Given the description of an element on the screen output the (x, y) to click on. 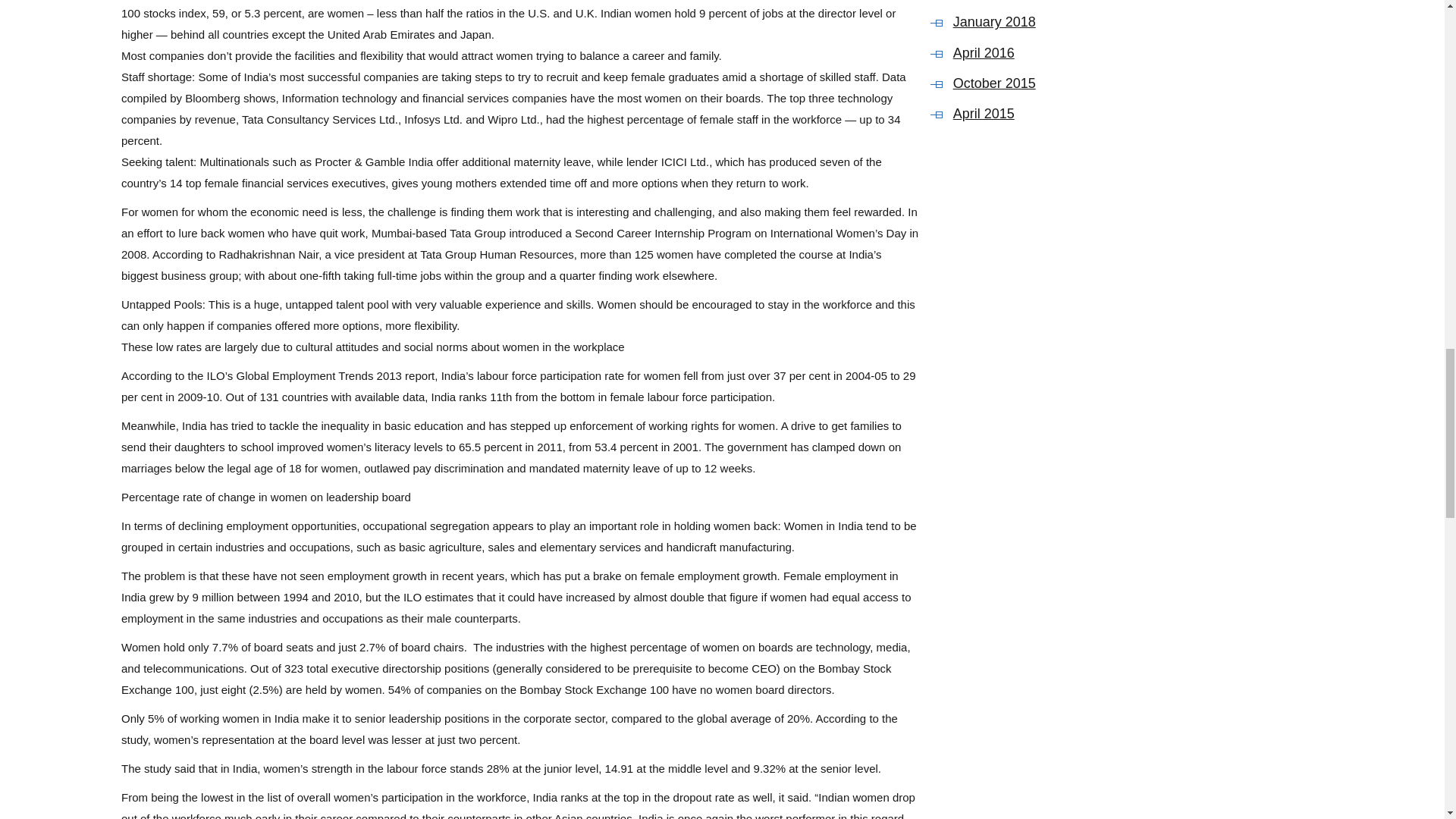
January 2018 (1088, 22)
